Given the description of an element on the screen output the (x, y) to click on. 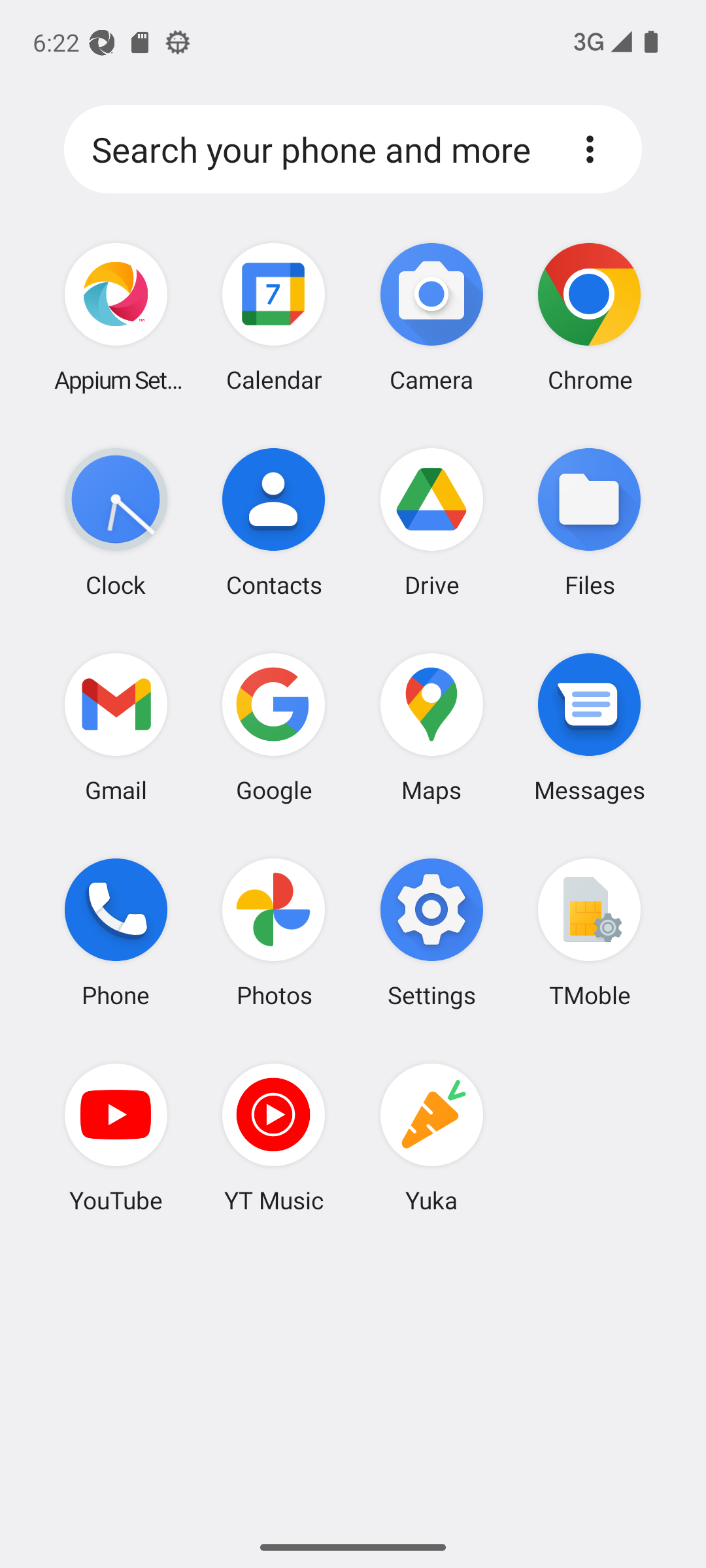
Search your phone and more (318, 149)
Preferences (589, 149)
Appium Settings (115, 317)
Calendar (273, 317)
Camera (431, 317)
Chrome (589, 317)
Clock (115, 522)
Contacts (273, 522)
Drive (431, 522)
Files (589, 522)
Gmail (115, 726)
Google (273, 726)
Maps (431, 726)
Messages (589, 726)
Phone (115, 931)
Photos (273, 931)
Settings (431, 931)
TMoble (589, 931)
YouTube (115, 1137)
YT Music (273, 1137)
Yuka (431, 1137)
